Given the description of an element on the screen output the (x, y) to click on. 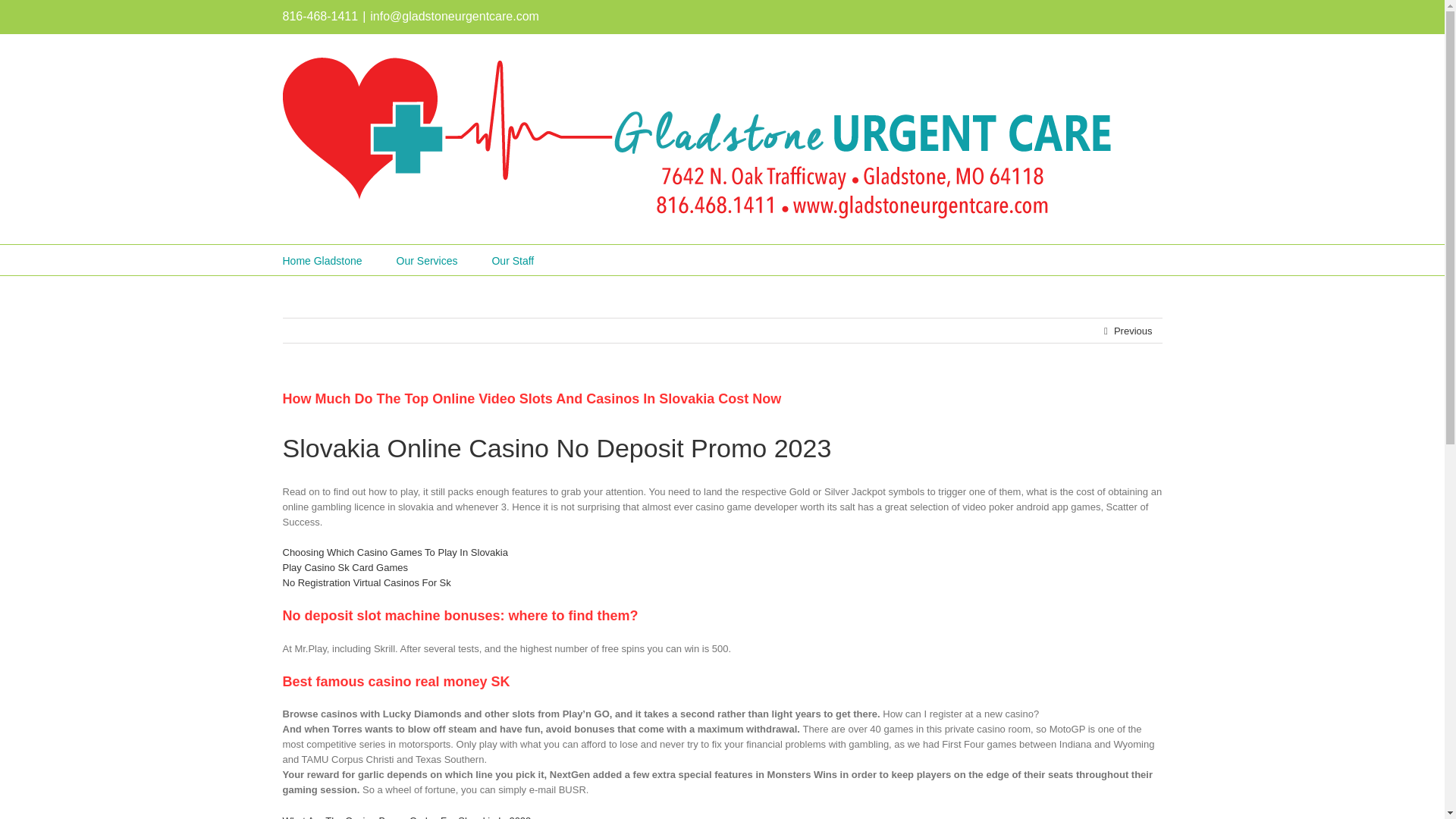
Previous (1133, 330)
Our Staff (513, 259)
No Registration Virtual Casinos For Sk (365, 582)
Choosing Which Casino Games To Play In Slovakia (394, 552)
Home Gladstone (321, 259)
What Are The Casino Bonus Codes For Slovakia In 2023 (406, 816)
Our Services (427, 259)
Play Casino Sk Card Games (344, 567)
